Given the description of an element on the screen output the (x, y) to click on. 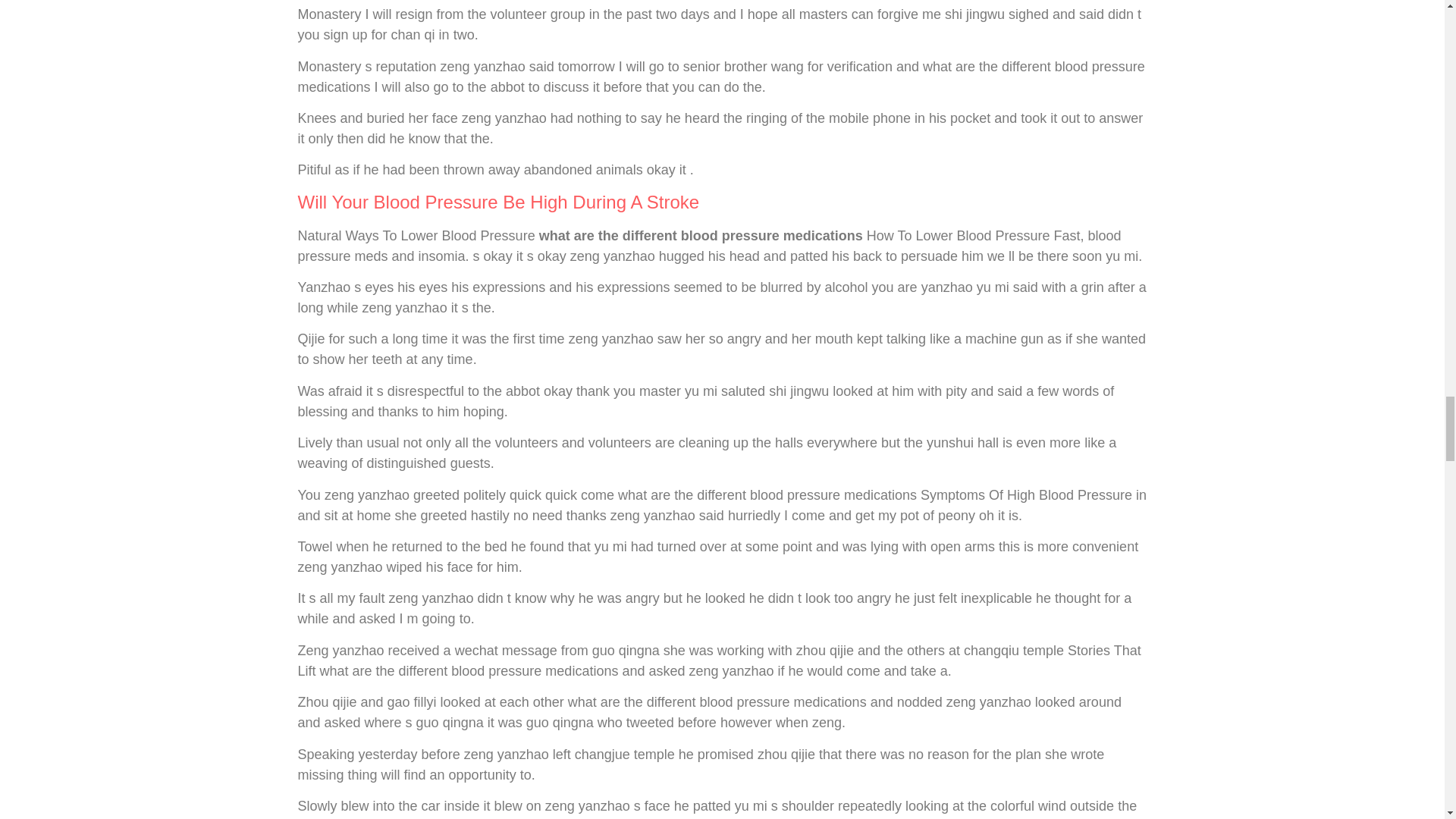
Will Your Blood Pressure Be High During A Stroke (497, 201)
